Given the description of an element on the screen output the (x, y) to click on. 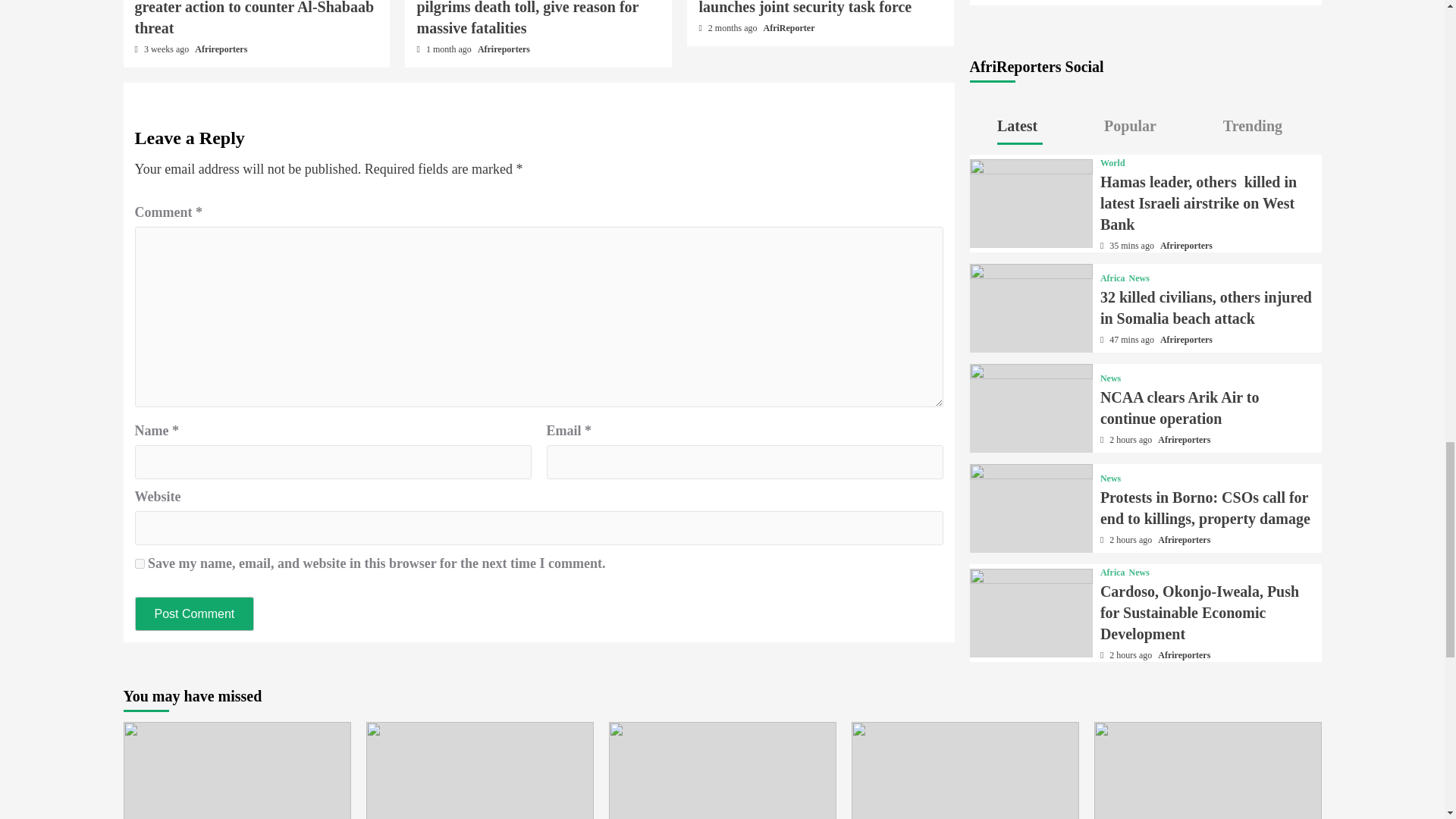
Post Comment (194, 613)
Afrireporters (503, 49)
1 month ago (450, 49)
2 months ago (733, 27)
3 weeks ago (167, 49)
yes (139, 563)
Afrireporters (221, 49)
